Given the description of an element on the screen output the (x, y) to click on. 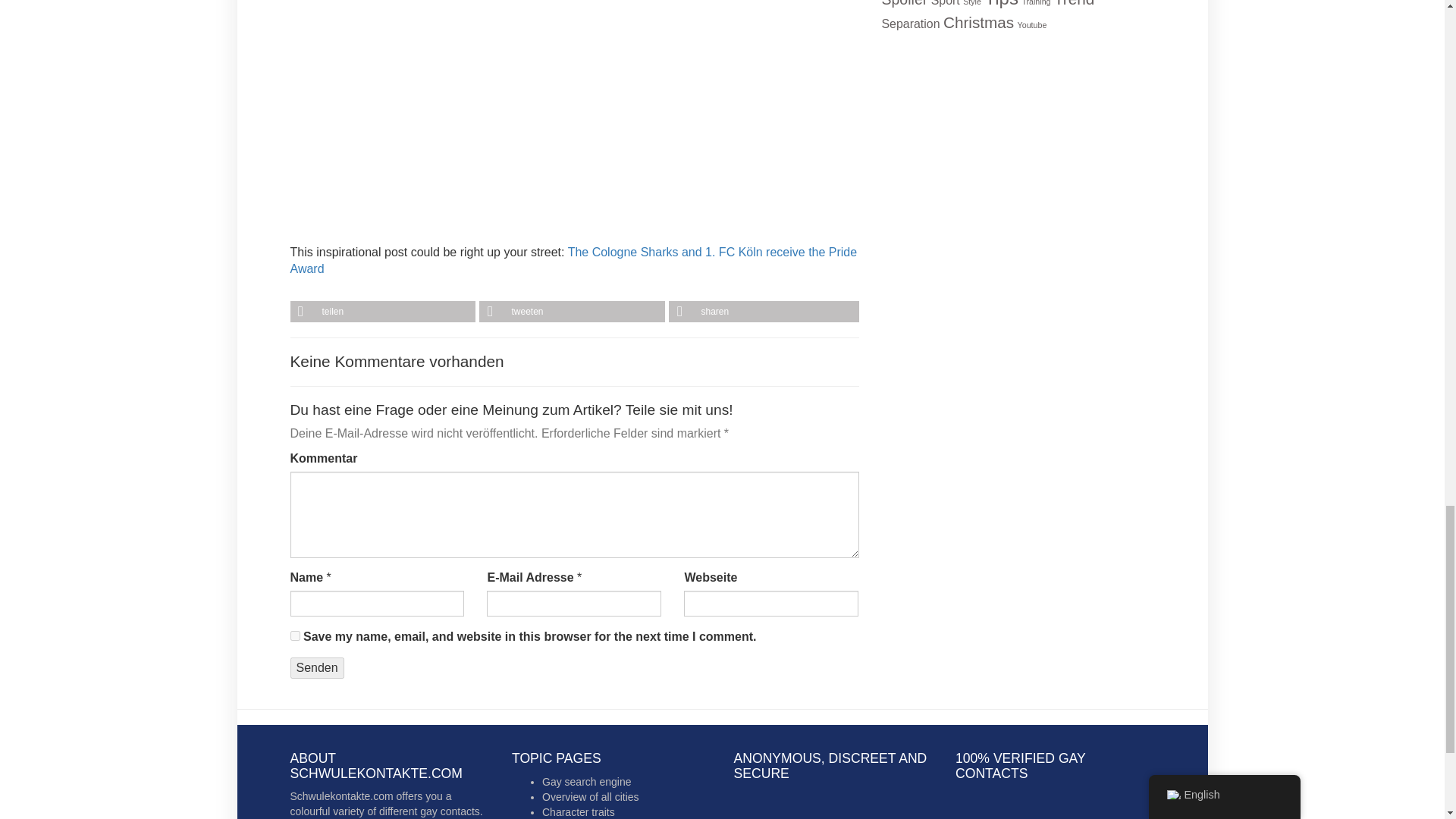
tweeten (573, 311)
sharen (763, 311)
teilen (384, 311)
Senden (316, 668)
Senden (316, 668)
yes (294, 635)
